Given the description of an element on the screen output the (x, y) to click on. 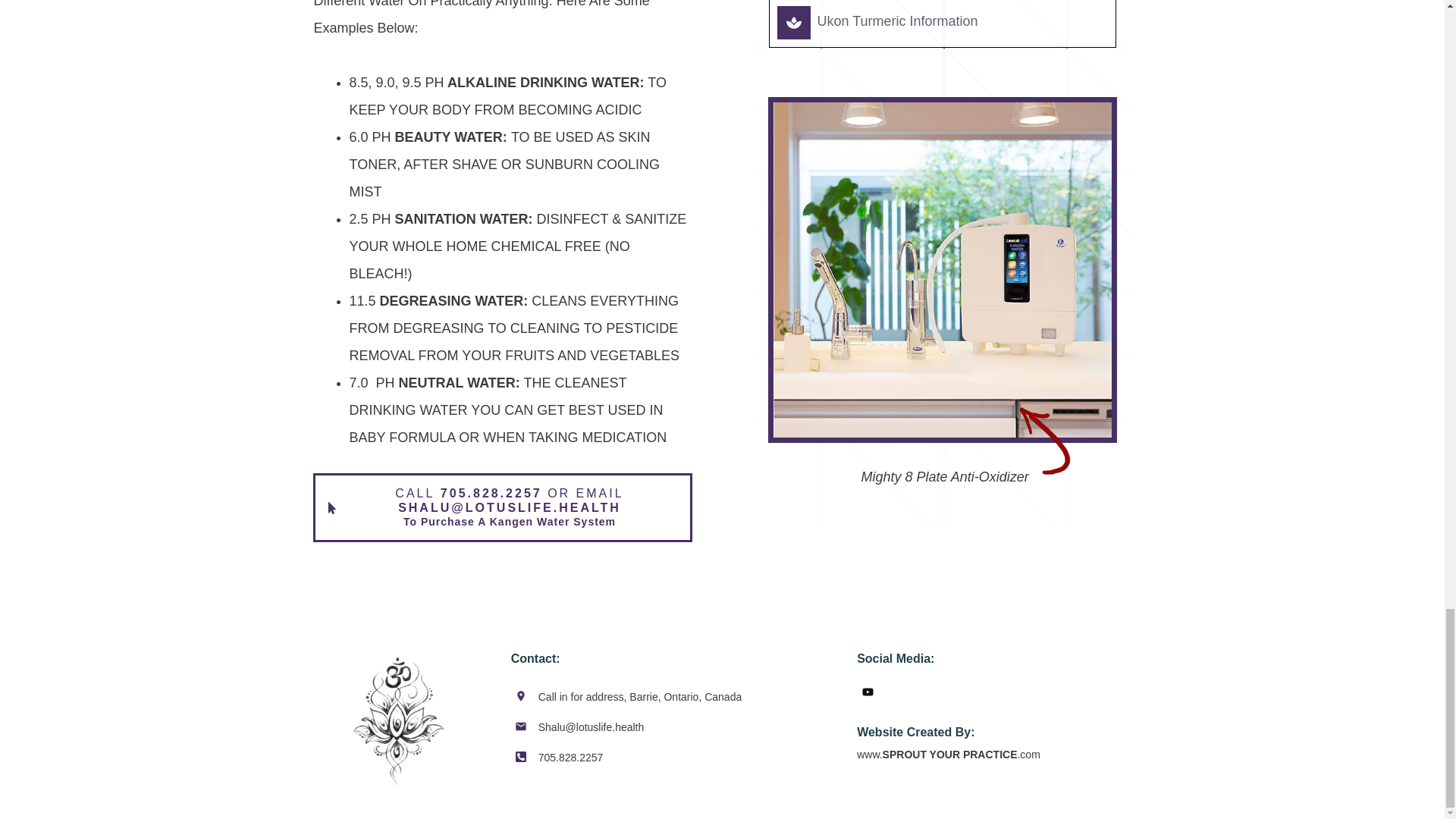
1408228 (1045, 440)
www.SPROUT YOUR PRACTICE.com (949, 754)
Ukon Turmeric Information  (898, 20)
